Given the description of an element on the screen output the (x, y) to click on. 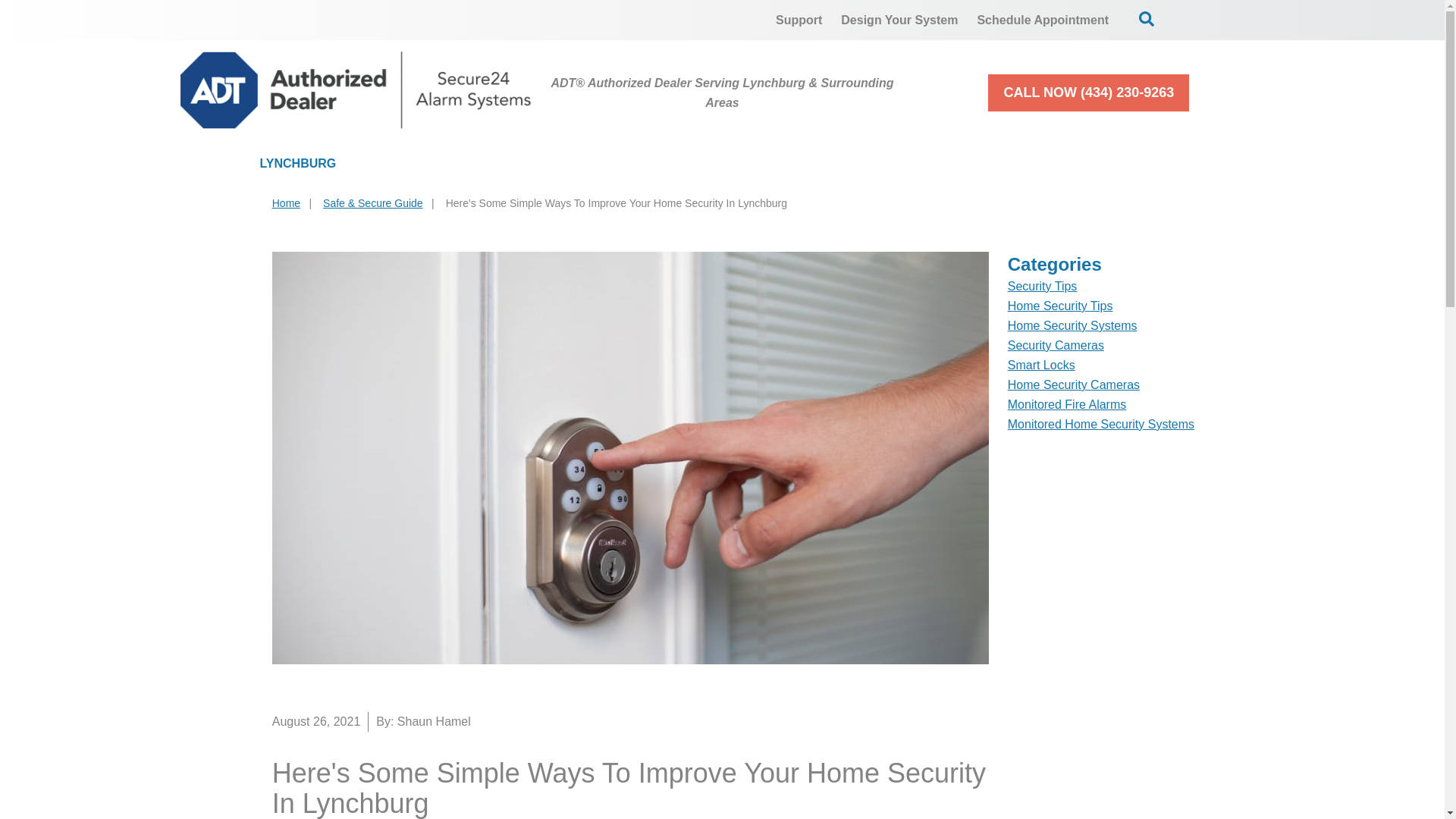
Cameras (598, 163)
Secure24 Alarm Systems Home (355, 89)
Home Security (451, 163)
Support (798, 20)
Home Automation (756, 163)
Schedule Appointment (1042, 20)
Design Your System (898, 20)
Open Search (1146, 18)
